Given the description of an element on the screen output the (x, y) to click on. 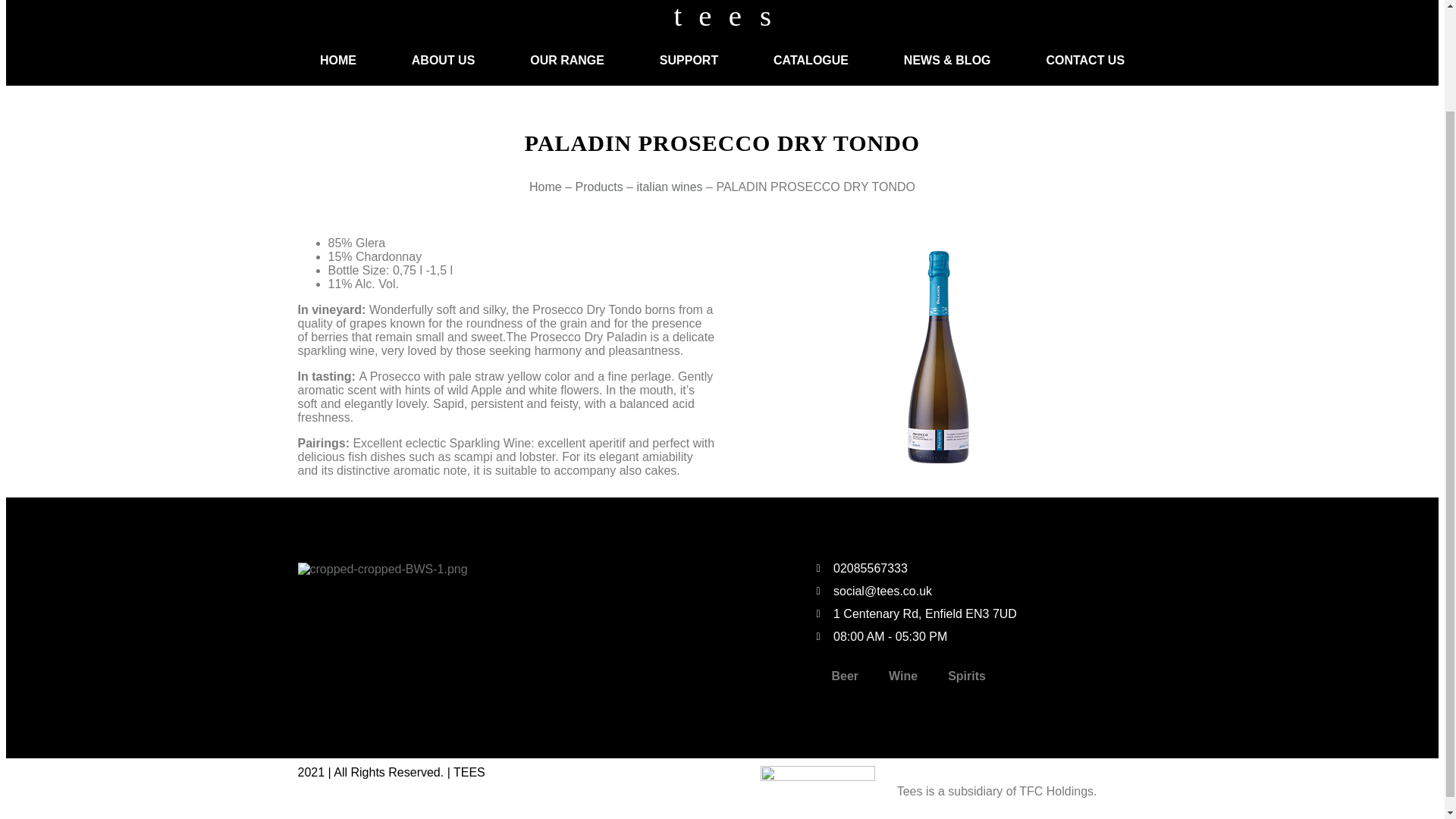
HOME (337, 60)
SUPPORT (688, 60)
OUR RANGE (567, 60)
ABOUT US (442, 60)
Products (599, 186)
CATALOGUE (810, 60)
CONTACT US (1085, 60)
cropped-cropped-BWS-1.png (382, 569)
Beer (844, 676)
1 Centenary Rd, Enfield EN3 7UD (981, 613)
